Given the description of an element on the screen output the (x, y) to click on. 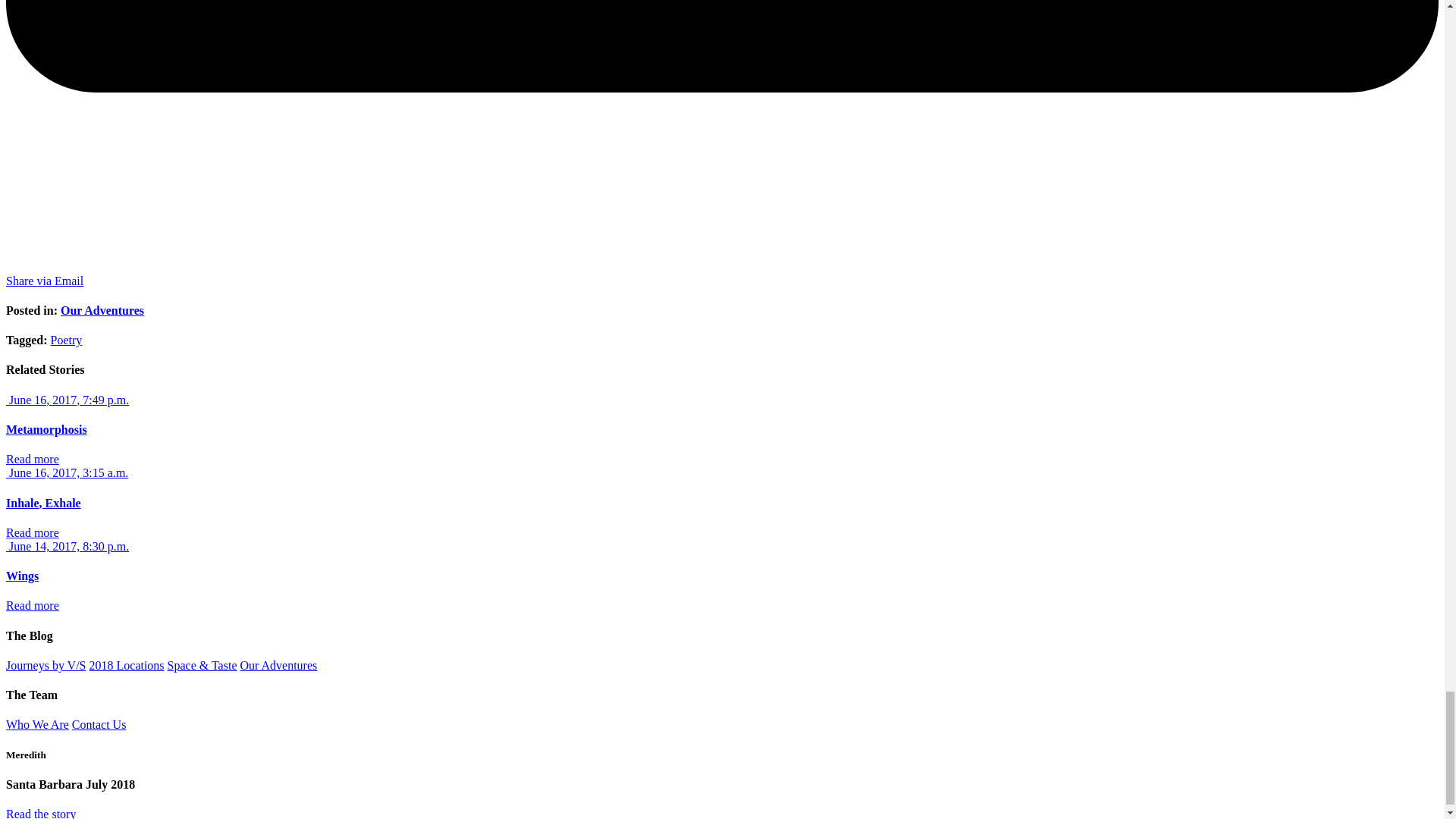
Who We Are (36, 724)
Inhale, Exhale (43, 502)
June 16, 2017, 7:49 p.m. (67, 399)
Read more (32, 532)
Our Adventures (102, 309)
2018 Locations (126, 665)
Metamorphosis (46, 429)
June 16, 2017, 3:15 a.m. (66, 472)
Our Adventures (278, 665)
Read more (32, 604)
